Given the description of an element on the screen output the (x, y) to click on. 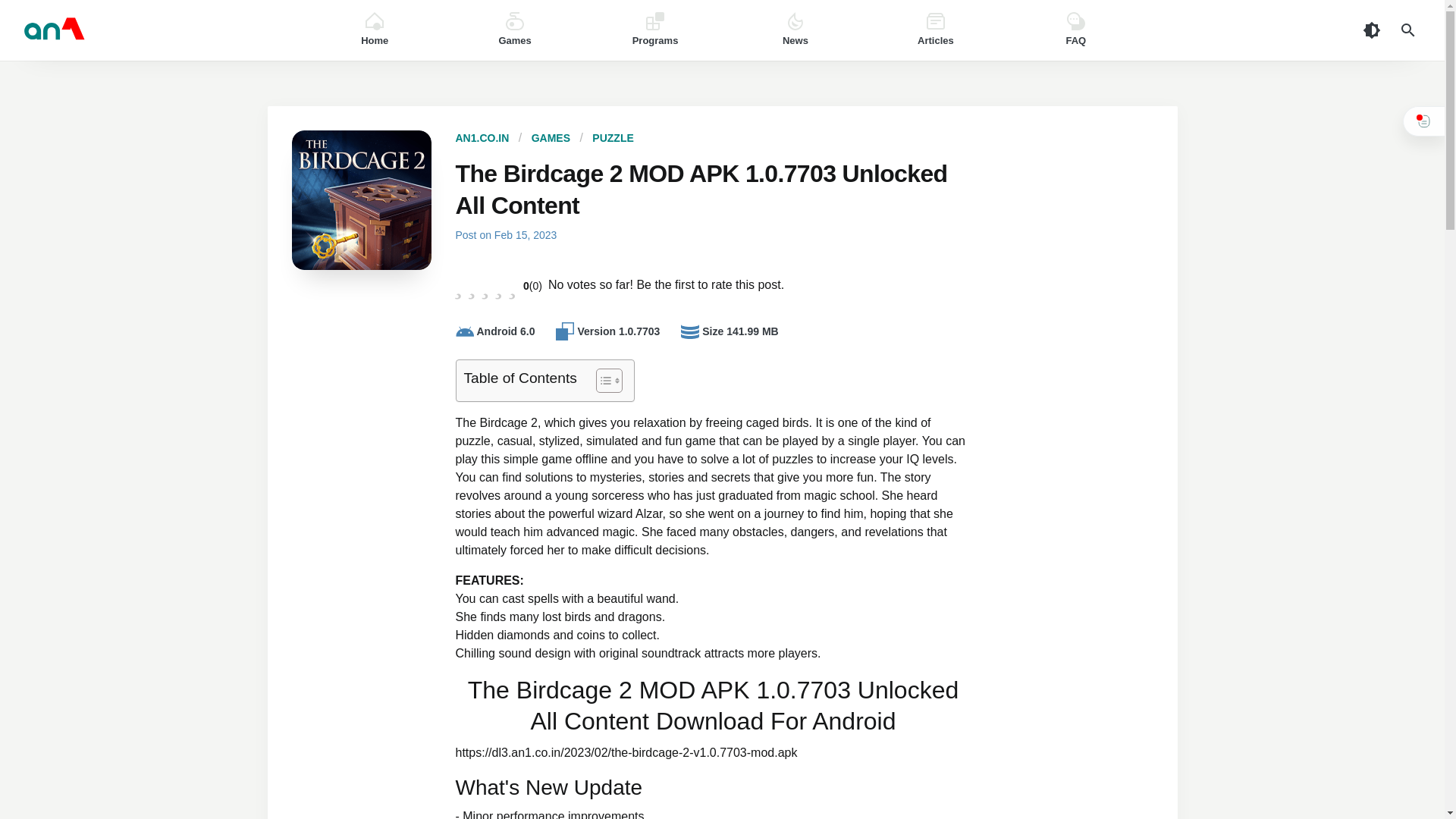
Articles (935, 30)
News (795, 30)
AN1 (154, 30)
FAQ (1075, 30)
Games (515, 30)
Home (374, 30)
Programs (655, 30)
